Given the description of an element on the screen output the (x, y) to click on. 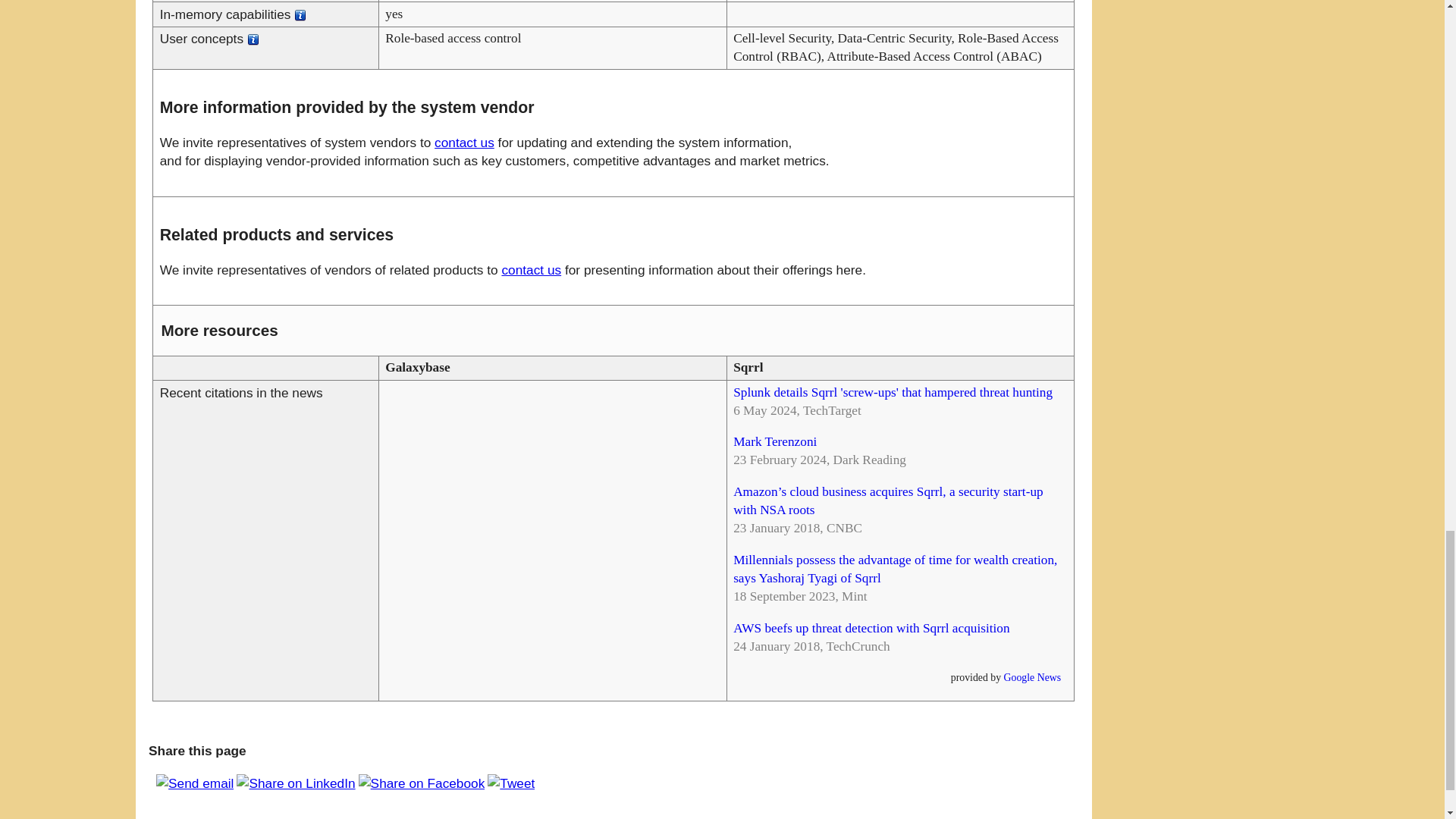
Mark Terenzoni (774, 441)
Send email (194, 783)
contact us (530, 269)
Share on Facebook (421, 783)
Share on LinkedIn (295, 783)
Tweet (510, 783)
contact us (464, 142)
